Given the description of an element on the screen output the (x, y) to click on. 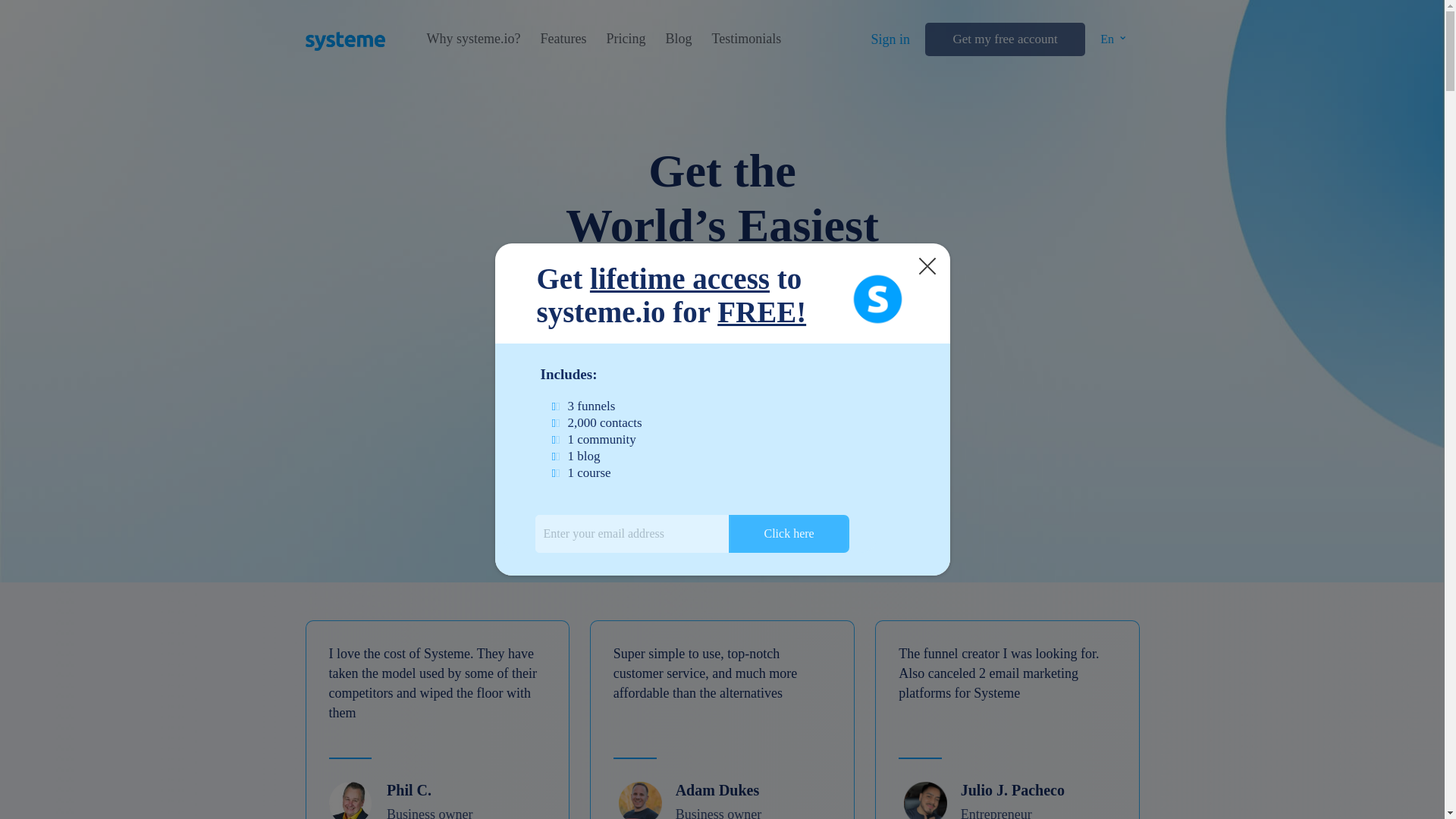
Why systeme.io? (472, 38)
Sign in (890, 39)
Get my free account (1004, 39)
Blog (678, 38)
Pricing (625, 38)
Features (563, 38)
Testimonials (745, 38)
